Given the description of an element on the screen output the (x, y) to click on. 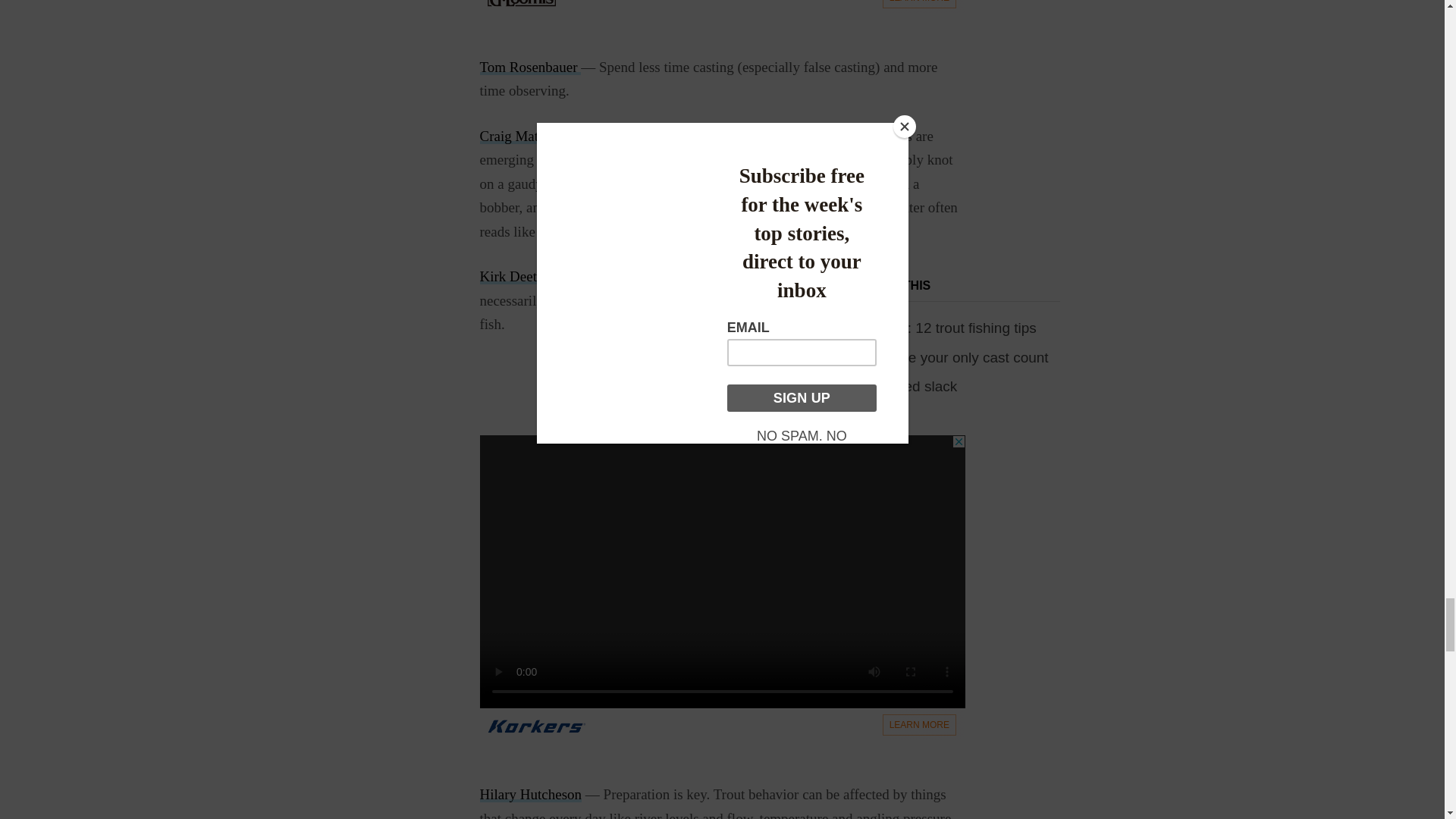
Quick takes: 12 trout fishing tips (934, 327)
Craig Mathews (523, 135)
Tom Rosenbauer (529, 66)
Dry flies need slack (895, 385)
How to make your only cast count (940, 357)
